Given the description of an element on the screen output the (x, y) to click on. 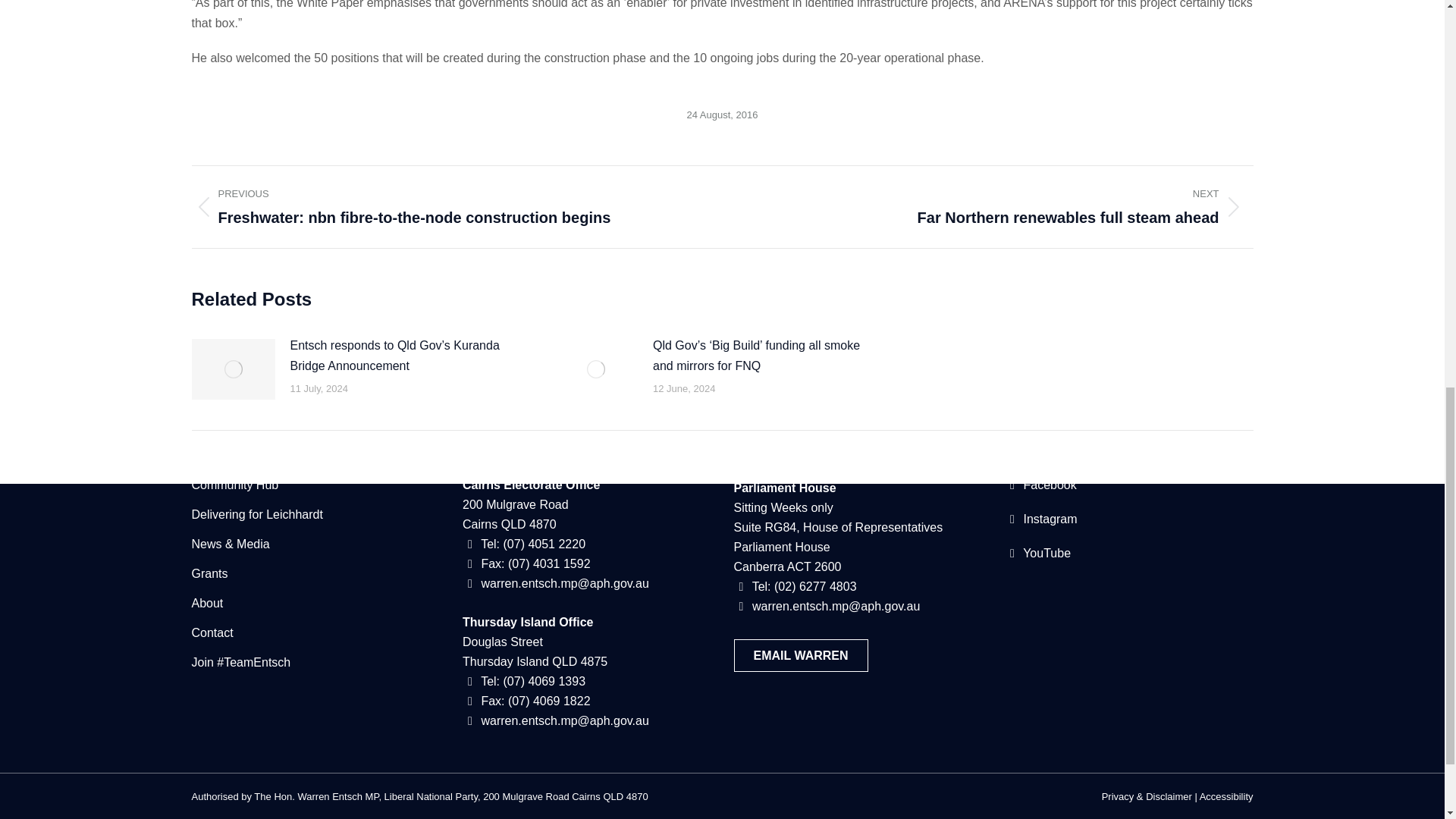
12:00 am (722, 114)
